Given the description of an element on the screen output the (x, y) to click on. 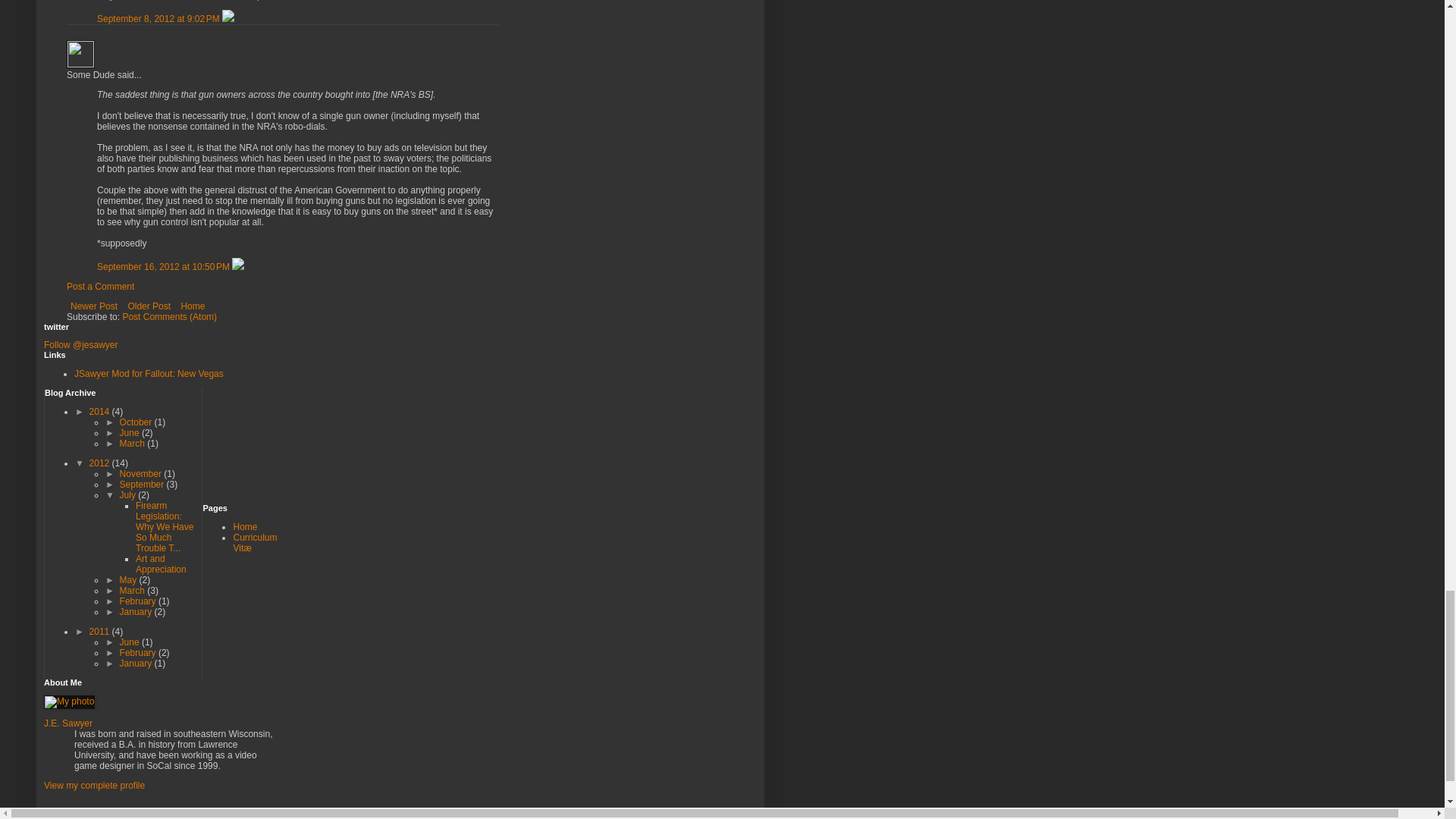
2014 (100, 411)
comment permalink (164, 266)
March (133, 443)
Post a Comment (99, 286)
Older Post (148, 306)
Older Post (148, 306)
June (130, 432)
November (141, 473)
September (143, 484)
comment permalink (159, 18)
Home (192, 306)
Newer Post (93, 306)
Some Dude (80, 53)
